Given the description of an element on the screen output the (x, y) to click on. 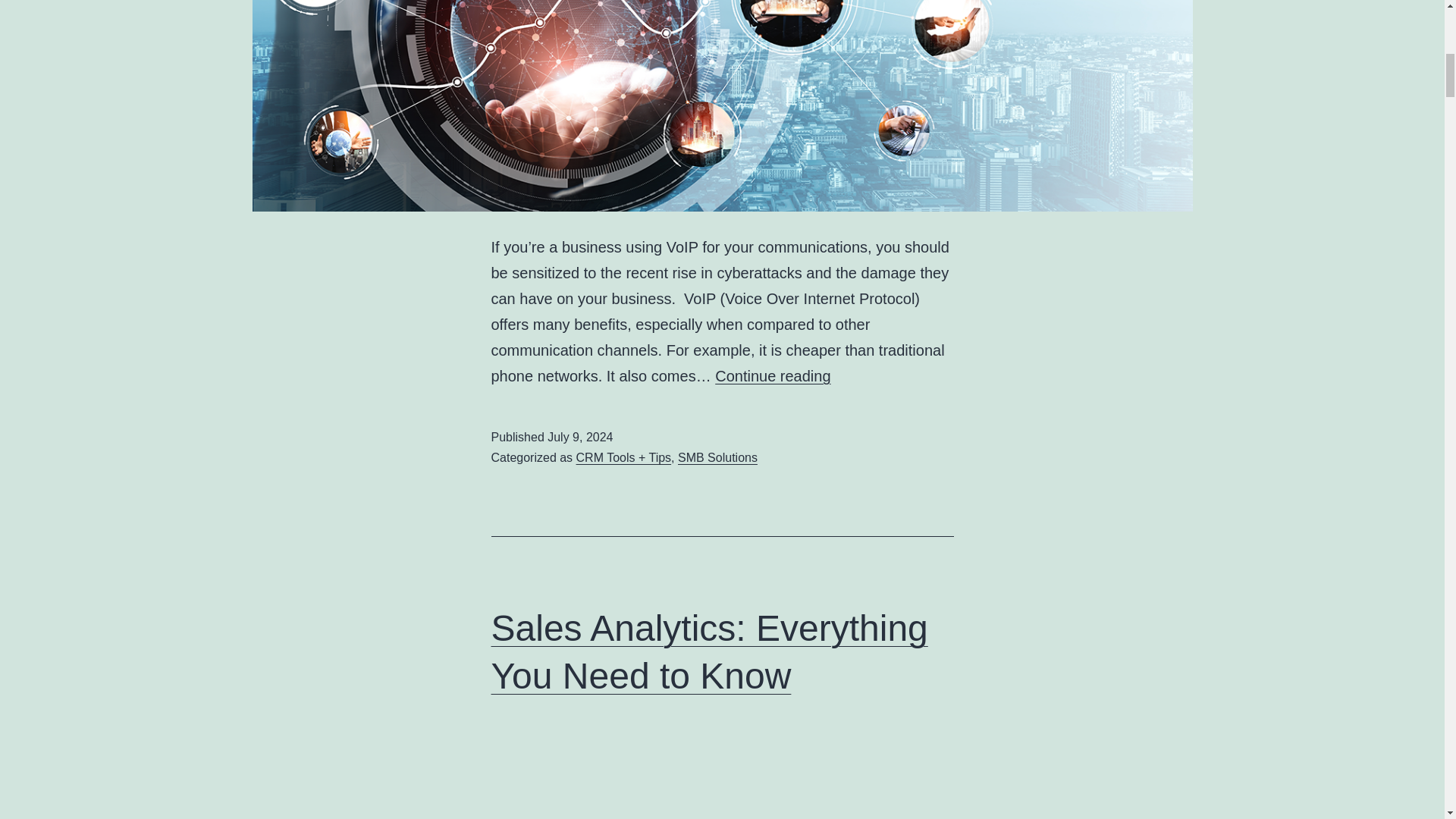
SMB Solutions (717, 457)
Sales Analytics: Everything You Need to Know (710, 651)
